Given the description of an element on the screen output the (x, y) to click on. 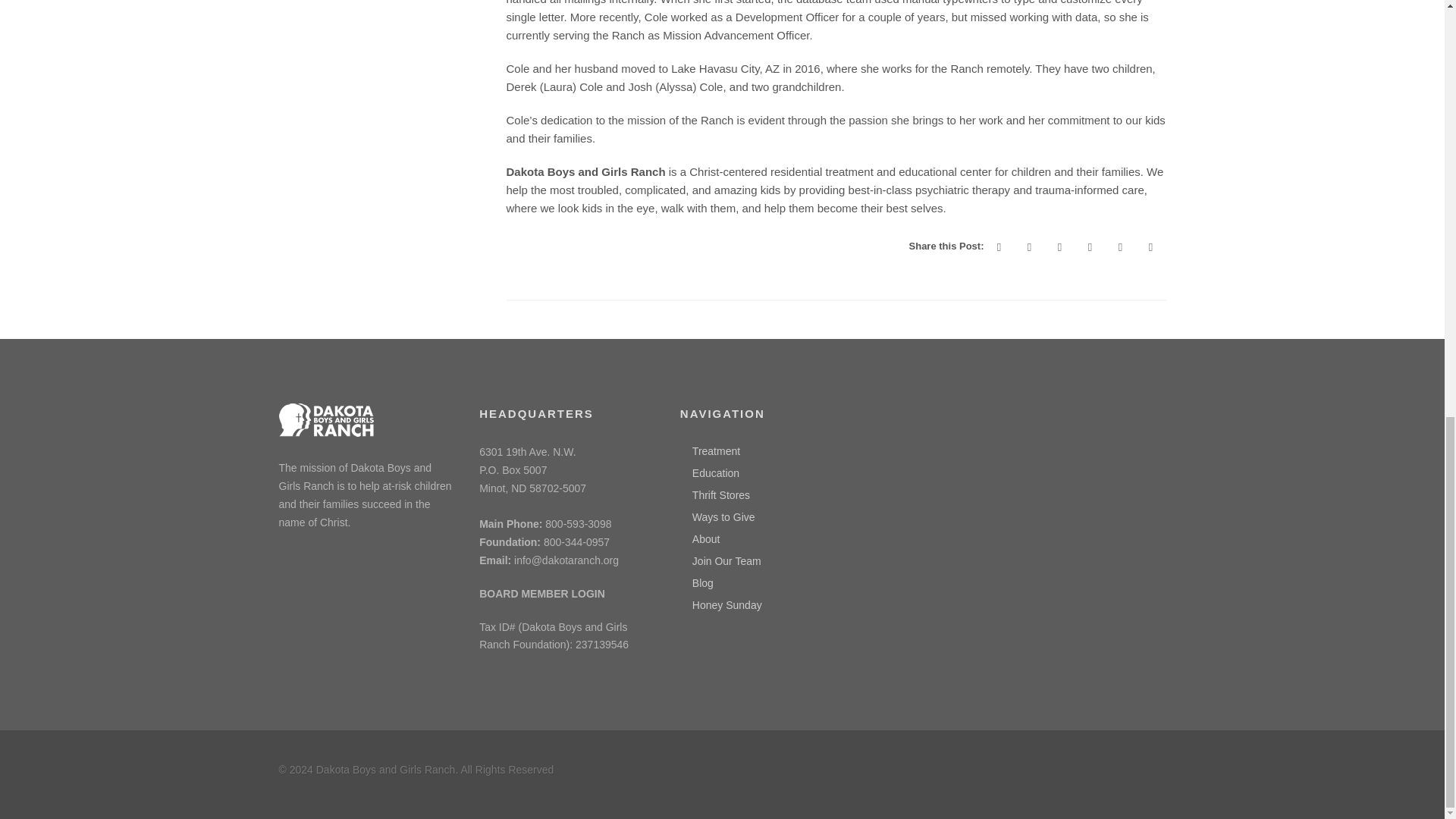
twitter (1029, 246)
facebook (999, 246)
OnBoard Passageways (542, 593)
